Given the description of an element on the screen output the (x, y) to click on. 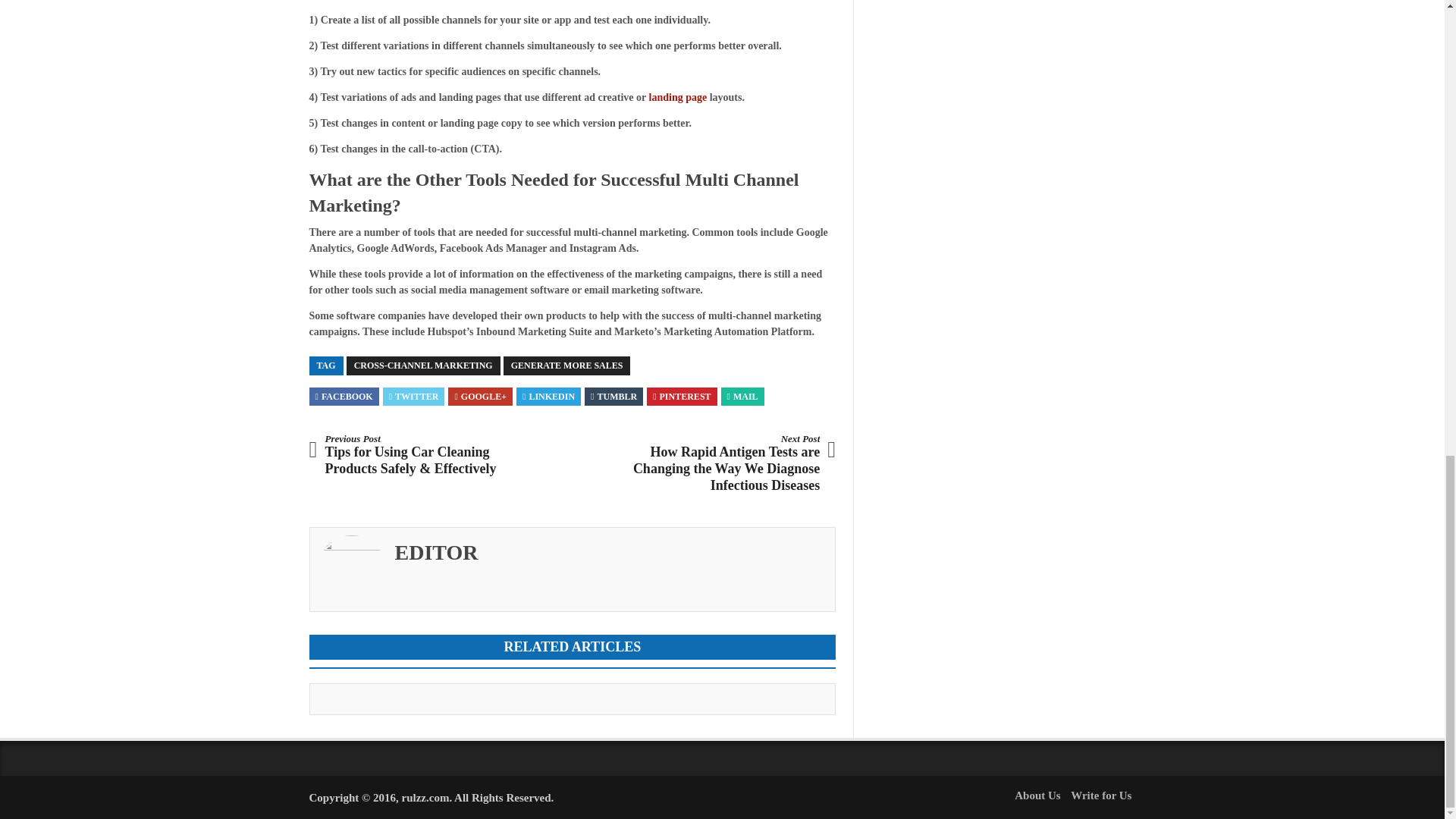
Facebook (343, 396)
Mail (742, 396)
Tumblr (614, 396)
Twitter (413, 396)
Google Plus (480, 396)
LinkedIn (548, 396)
Pinterest (681, 396)
